Given the description of an element on the screen output the (x, y) to click on. 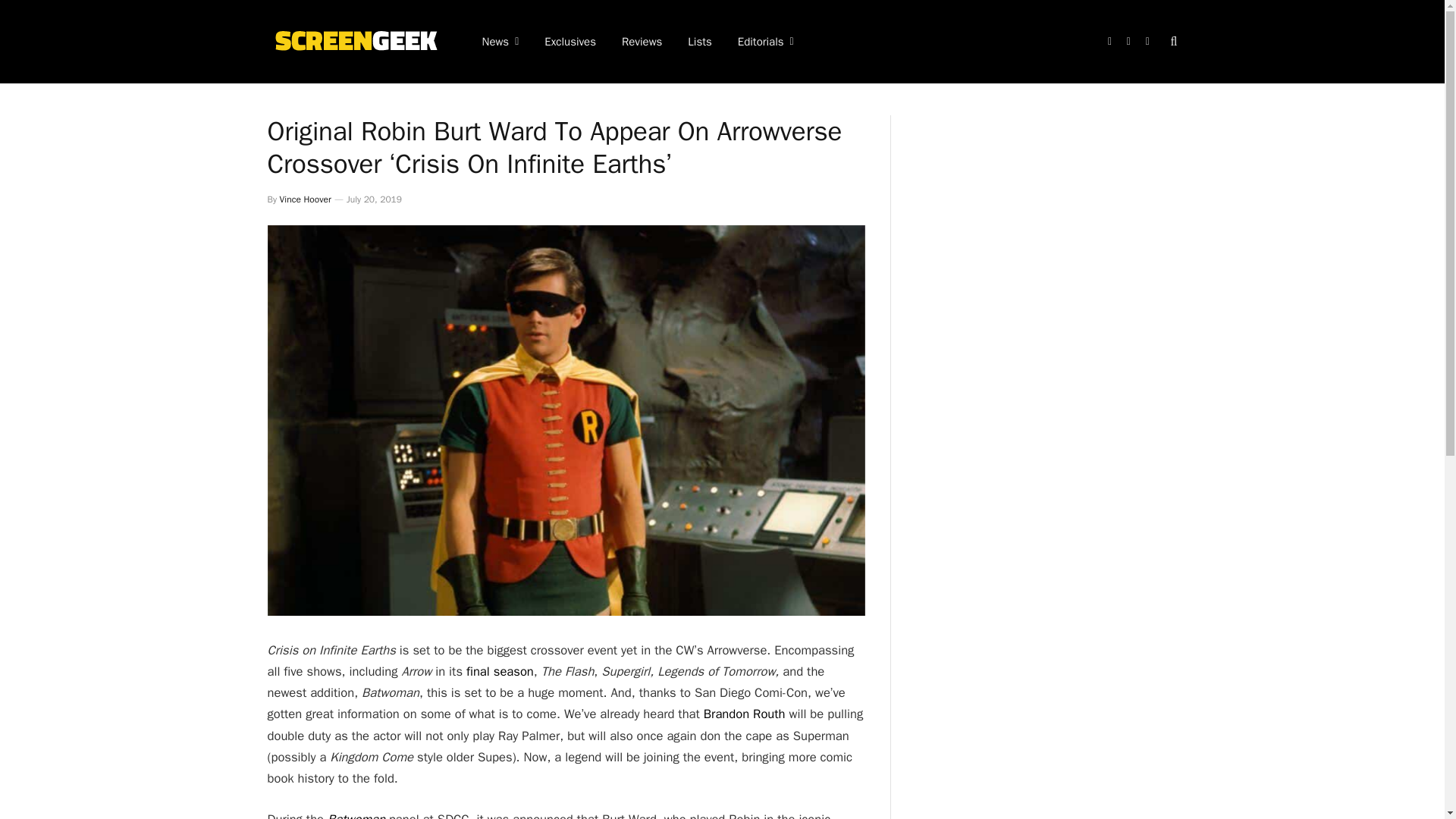
Vince Hoover (305, 199)
final season (499, 671)
Batwoman (357, 815)
Brandon Routh (744, 713)
Exclusives (569, 41)
Editorials (765, 41)
Posts by Vince Hoover (305, 199)
ScreenGeek (354, 41)
